Given the description of an element on the screen output the (x, y) to click on. 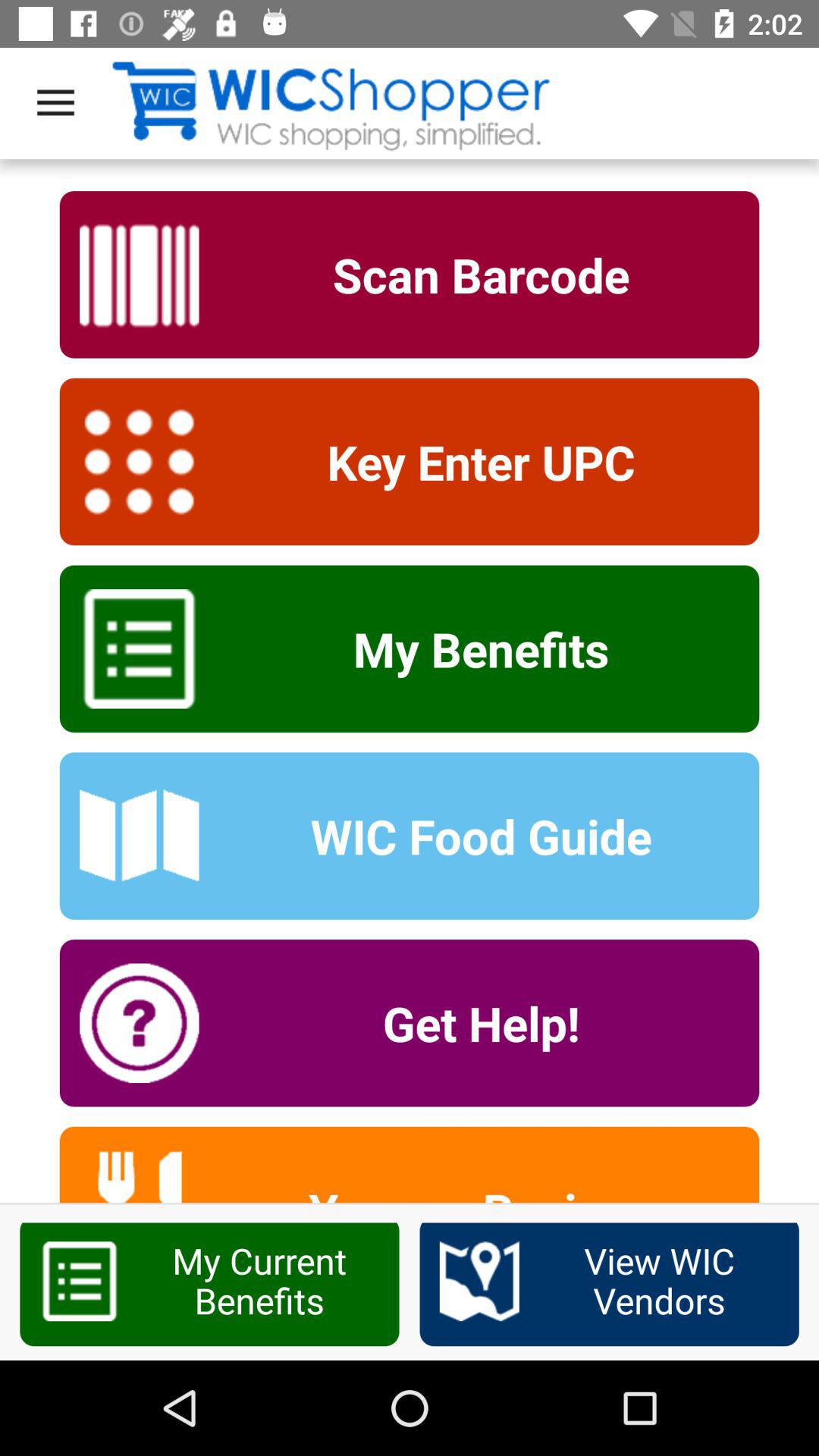
turn off wic food guide item (471, 835)
